Given the description of an element on the screen output the (x, y) to click on. 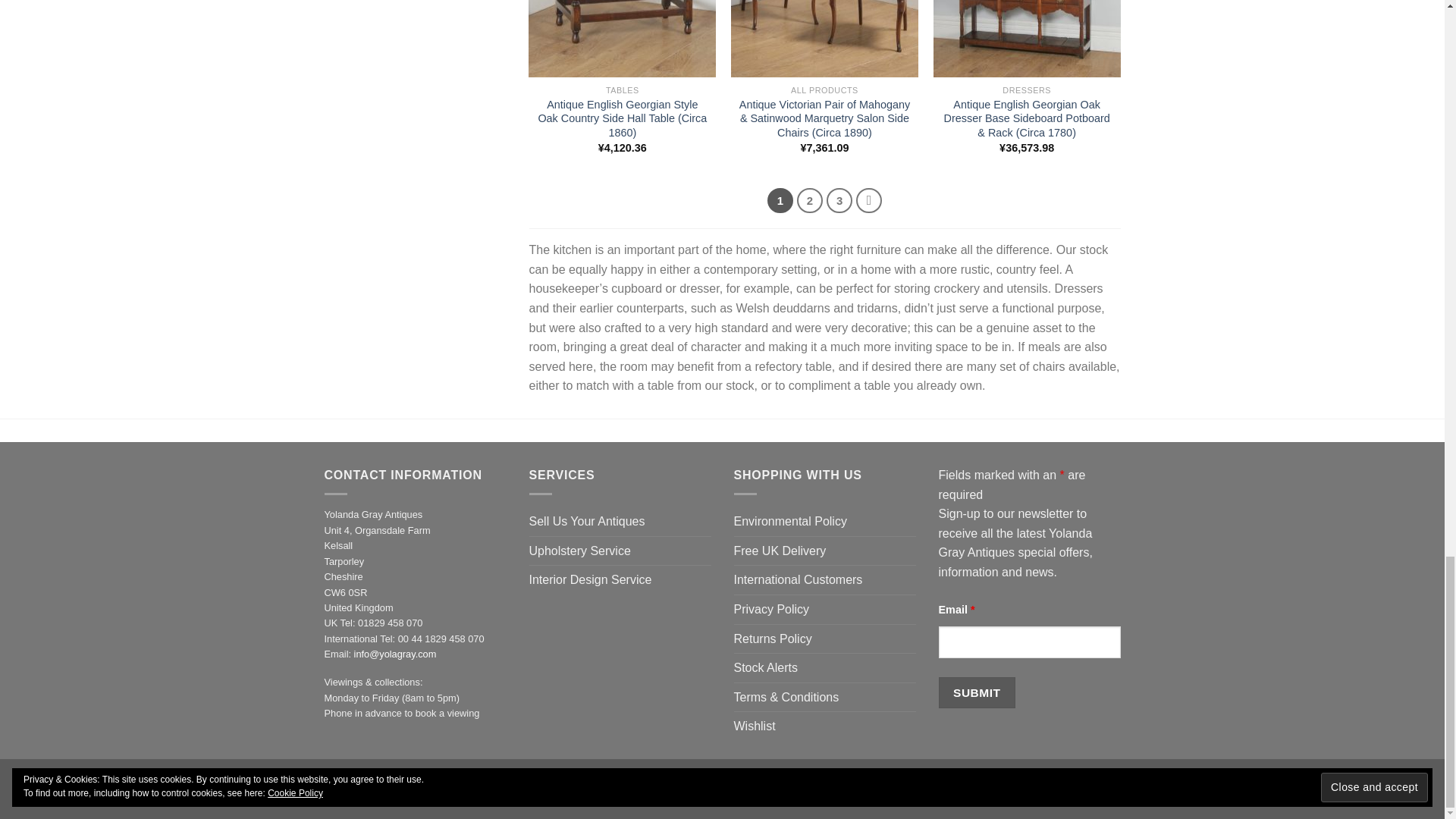
Submit (976, 693)
